Given the description of an element on the screen output the (x, y) to click on. 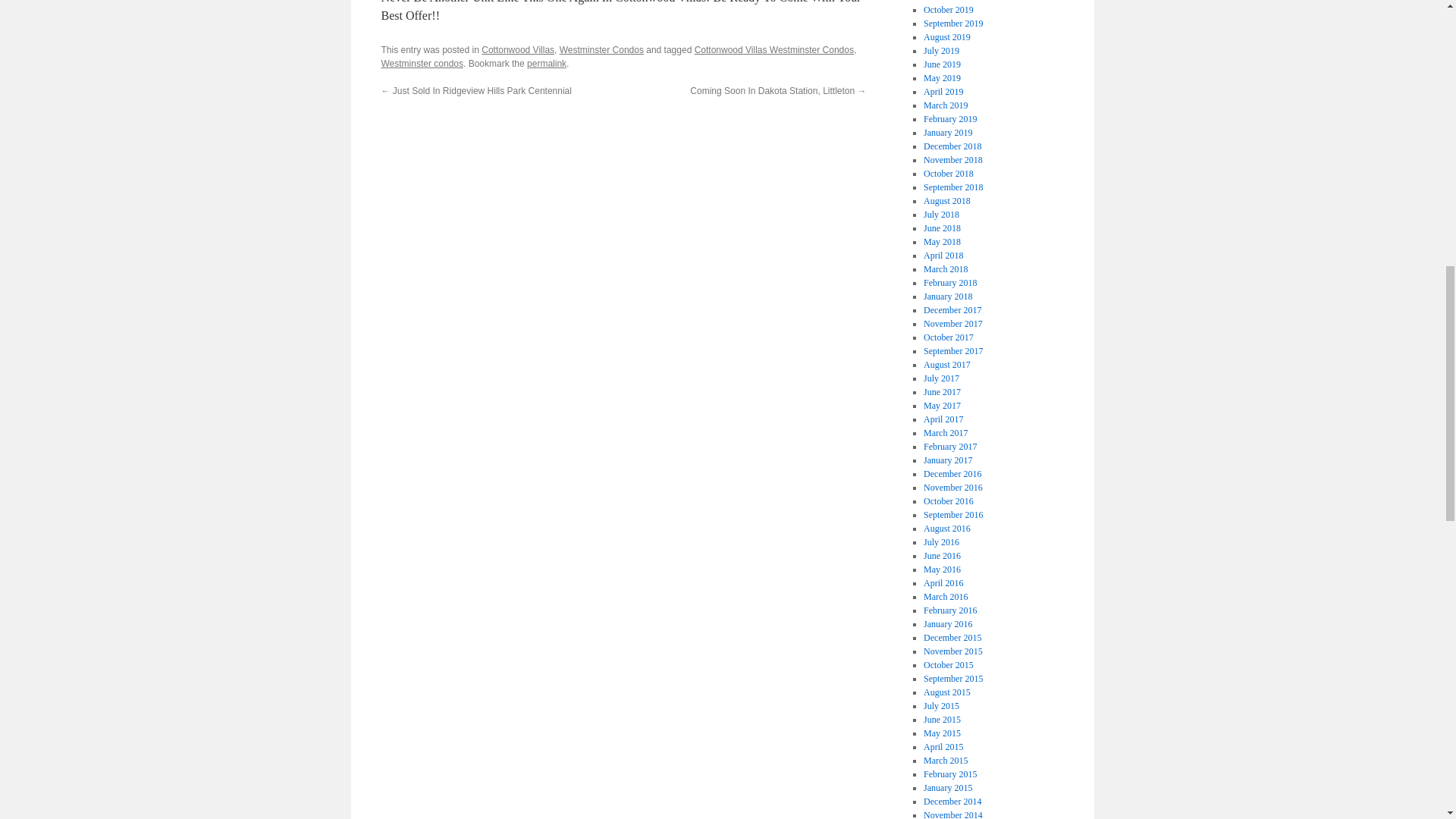
Cottonwood Villas Westminster Condos (773, 50)
Westminster condos (421, 63)
Permalink to Coming Soon In Cottonwood Villas, Westminster (546, 63)
Cottonwood Villas (517, 50)
Westminster Condos (601, 50)
permalink (546, 63)
